Given the description of an element on the screen output the (x, y) to click on. 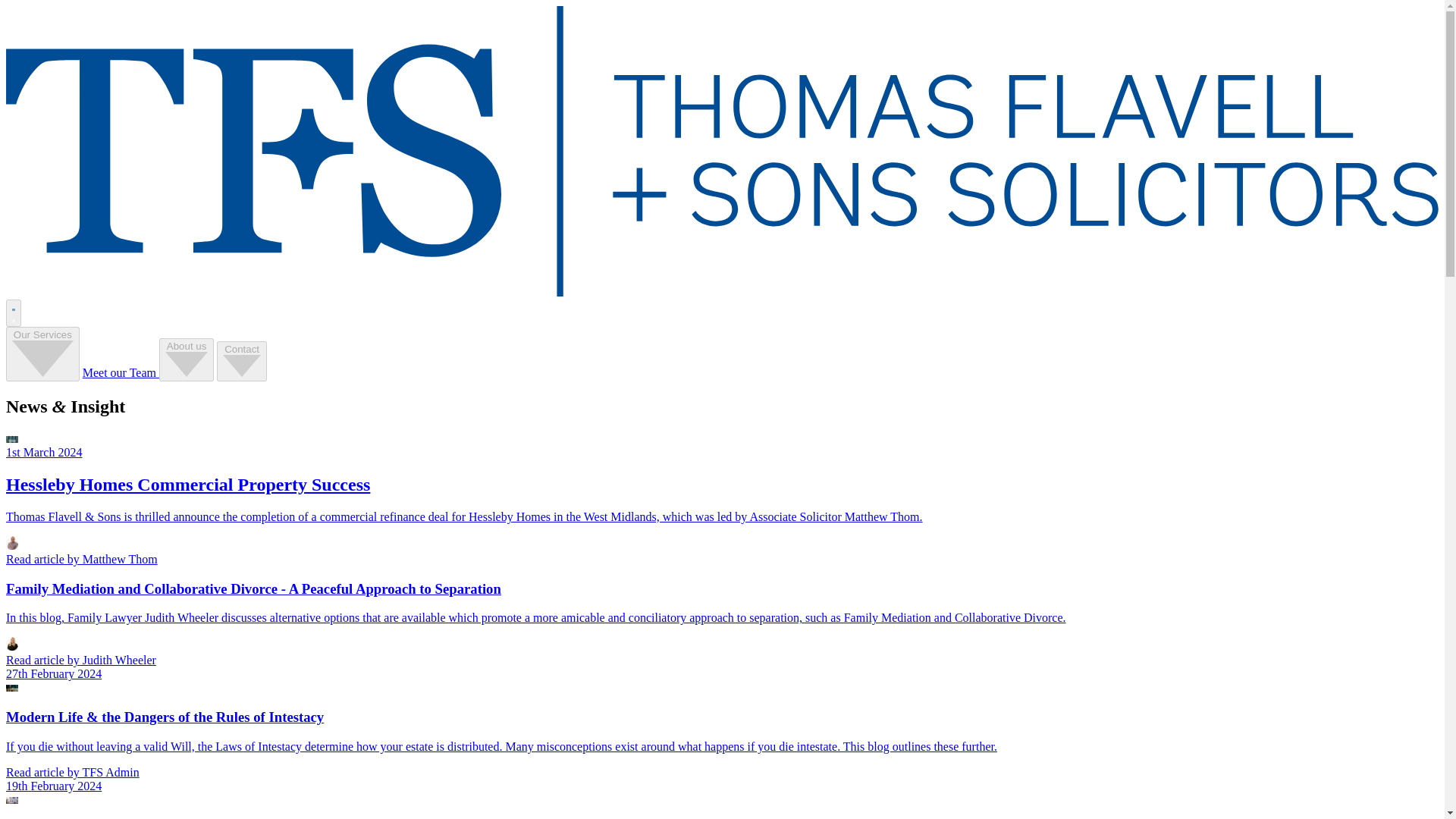
Meet our Team (120, 372)
Contact (241, 361)
About us (186, 360)
Our Services (42, 353)
